Given the description of an element on the screen output the (x, y) to click on. 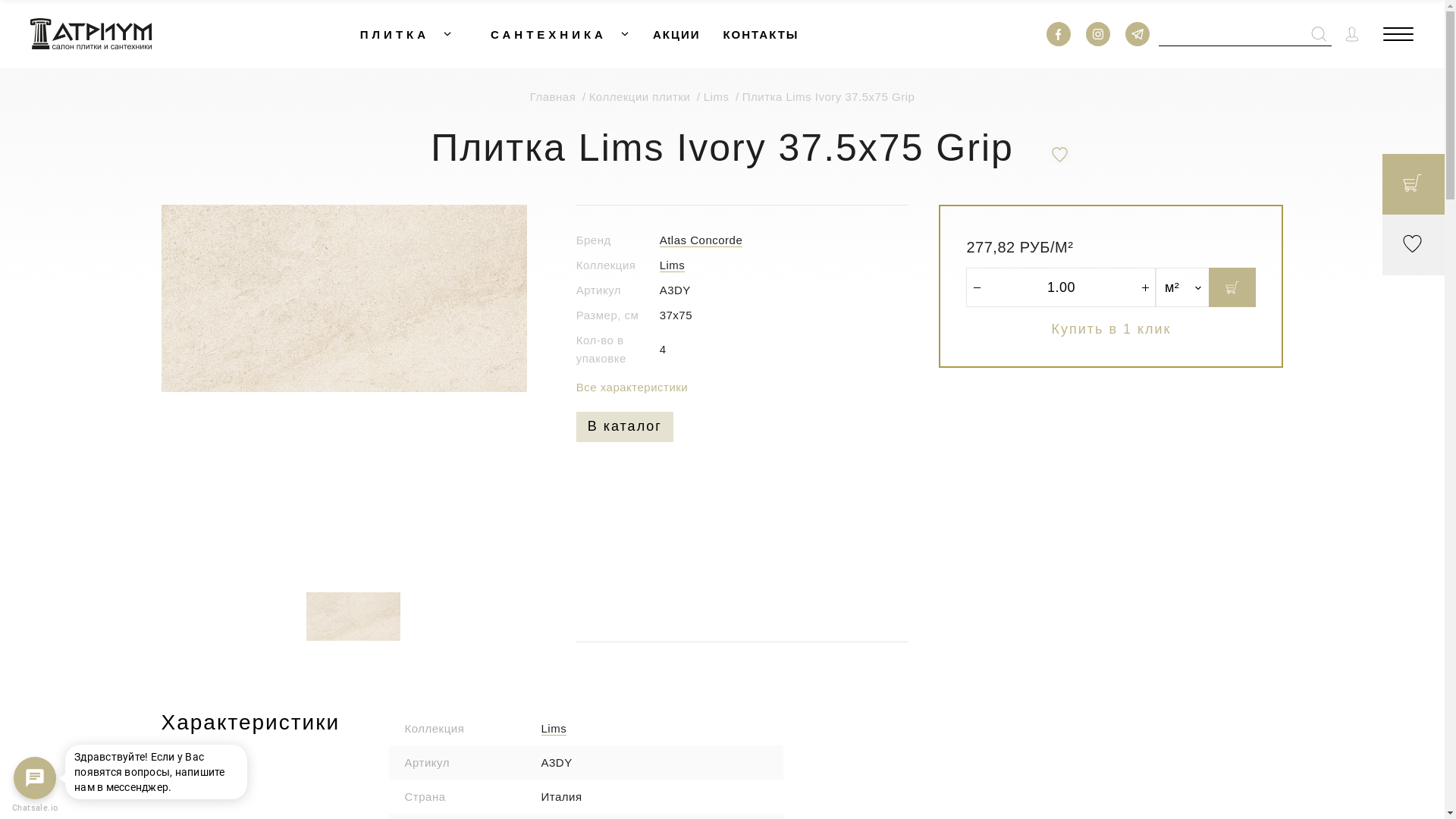
Lims Element type: text (554, 728)
Atlas Concorde Element type: text (701, 240)
Lims Element type: text (722, 96)
Lims Element type: text (672, 265)
Chatsale.io Element type: text (34, 808)
